Given the description of an element on the screen output the (x, y) to click on. 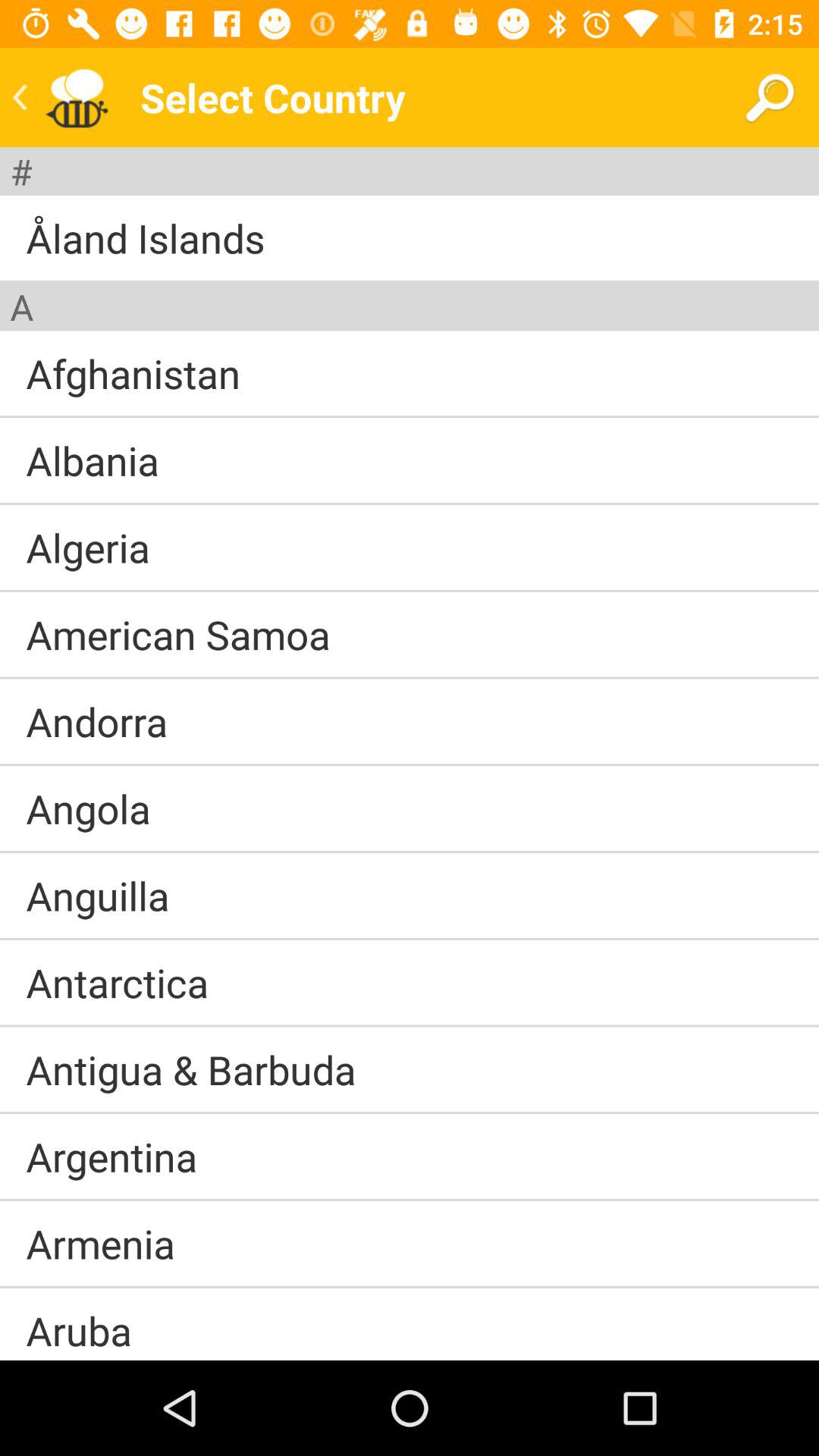
turn off # (21, 171)
